Given the description of an element on the screen output the (x, y) to click on. 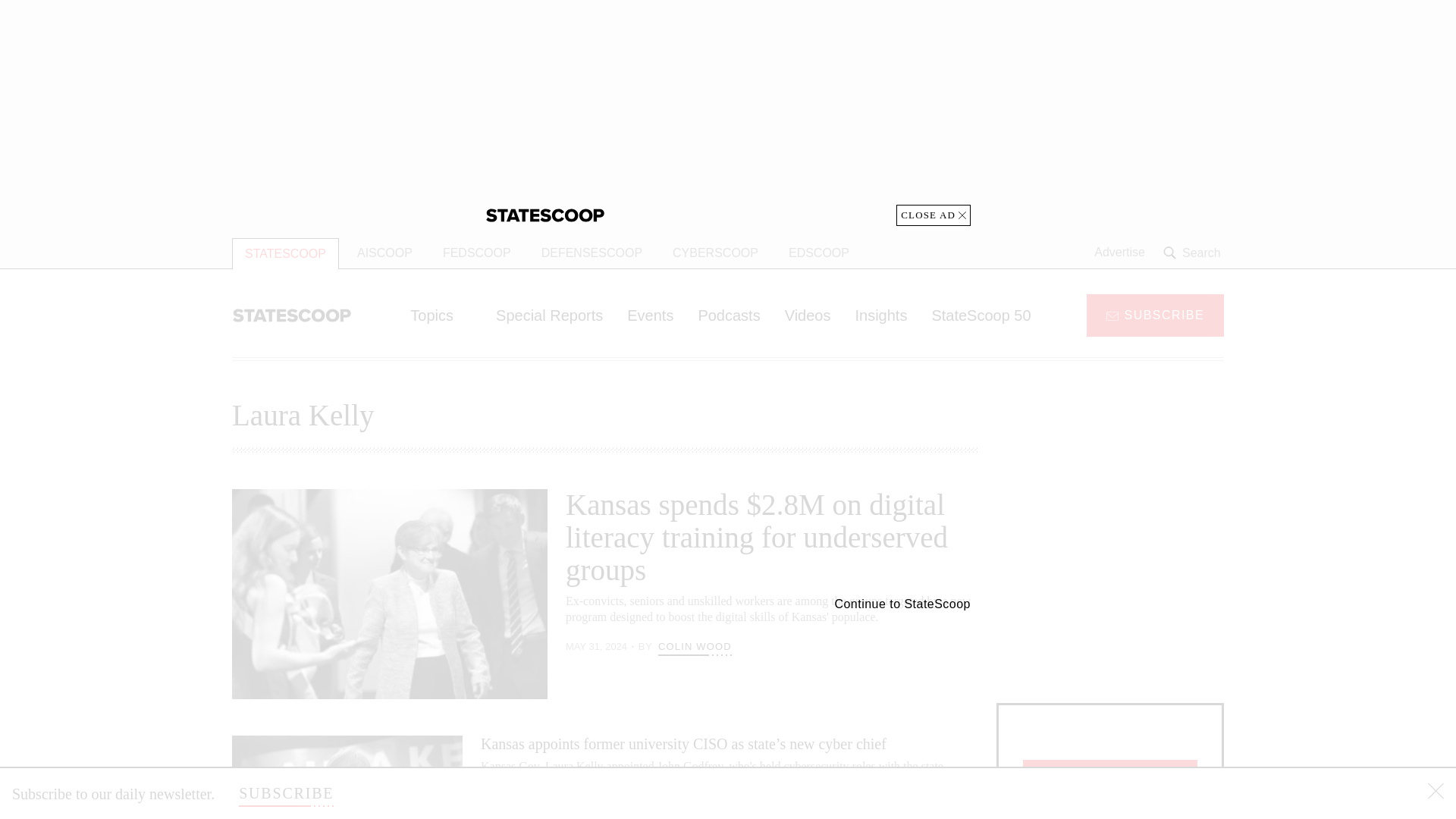
FEDSCOOP (476, 253)
Events (649, 315)
DEFENSESCOOP (591, 253)
Insights (880, 315)
SUBSCRIBE (1155, 314)
STATESCOOP (285, 253)
EDSCOOP (818, 253)
